Given the description of an element on the screen output the (x, y) to click on. 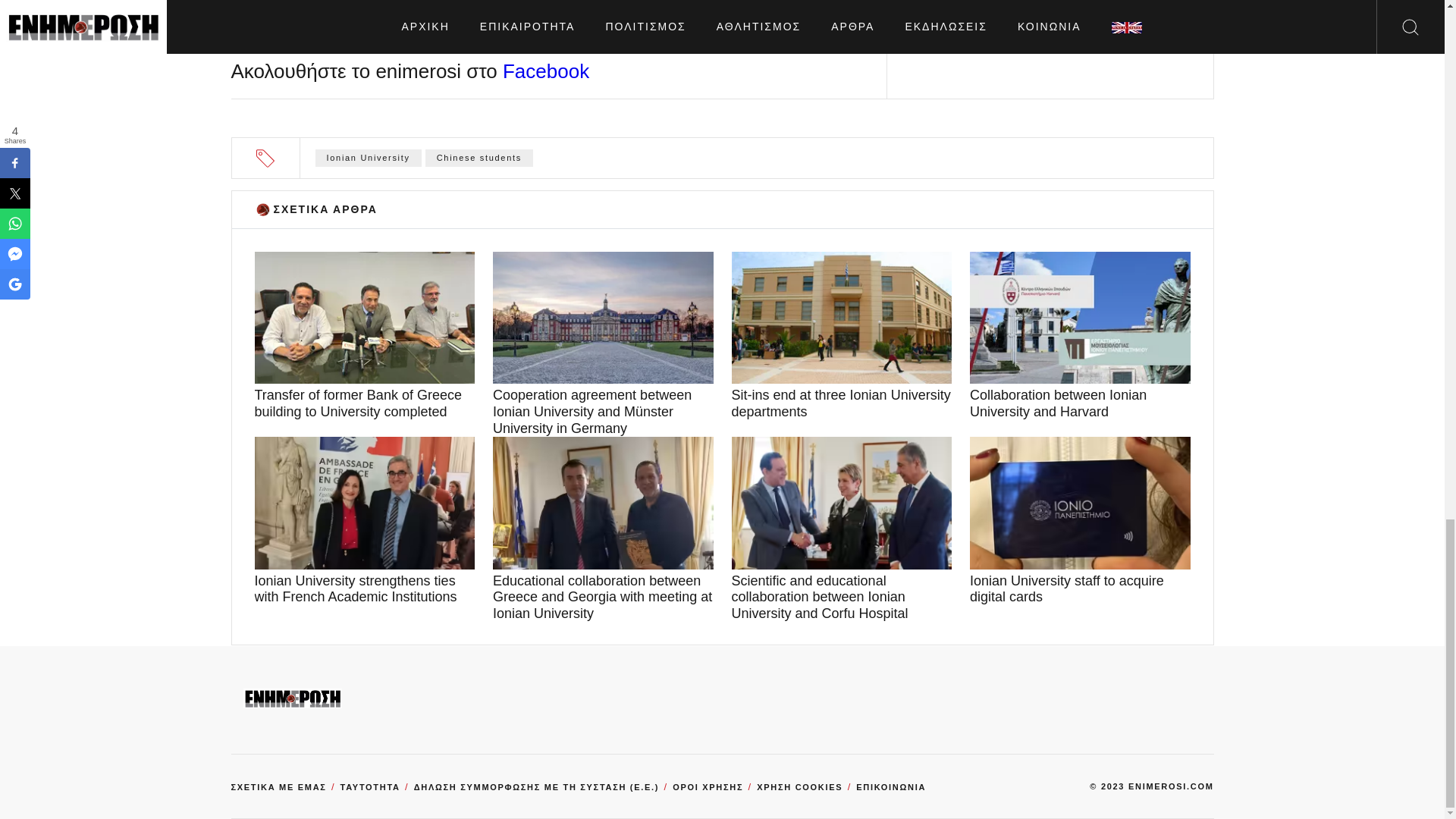
Chinese students (478, 158)
Facebook (545, 70)
Collaboration between Ionian University and Harvard (1080, 403)
Sit-ins end at three Ionian University departments (841, 403)
Ionian University (368, 158)
